Given the description of an element on the screen output the (x, y) to click on. 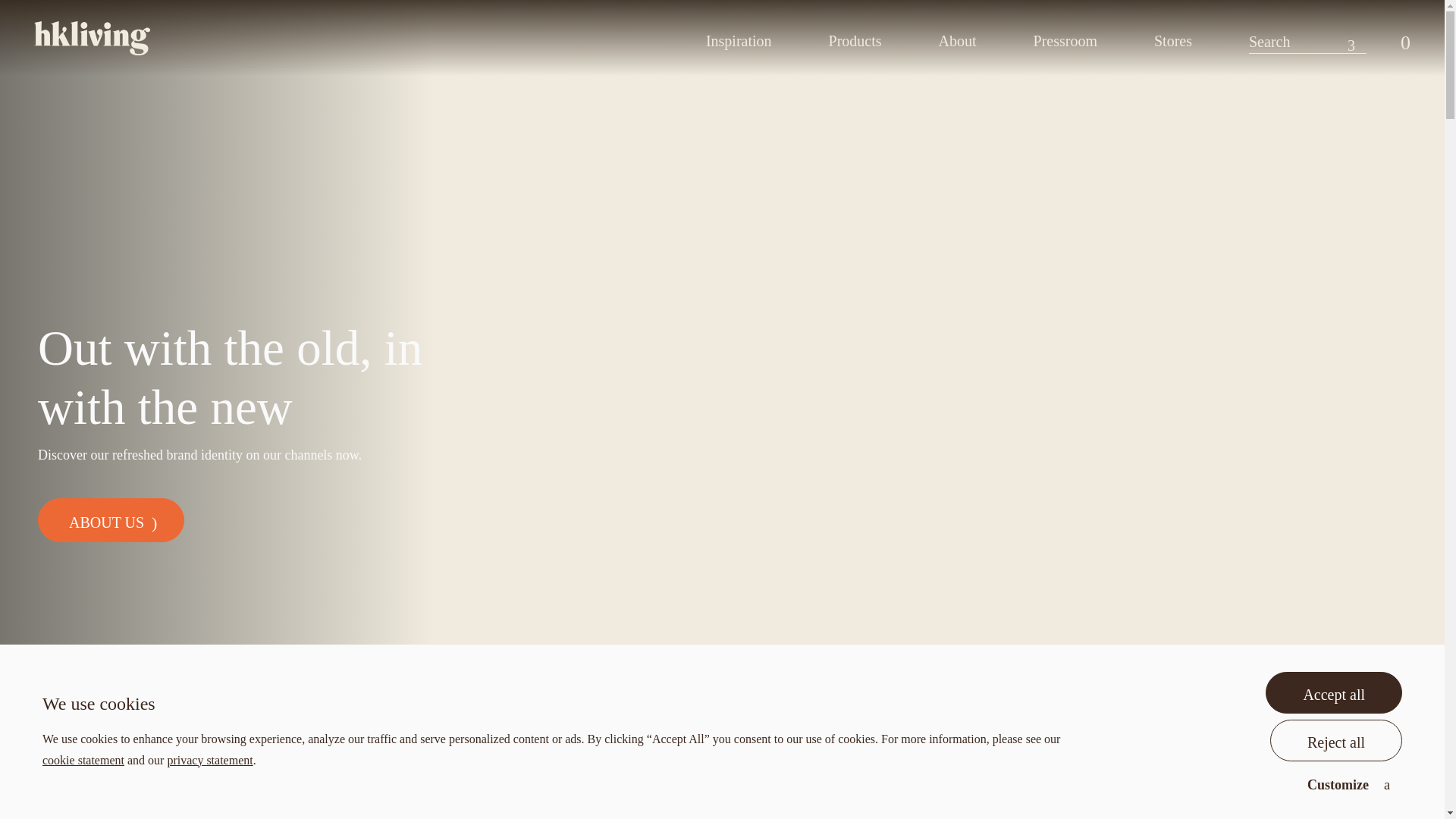
Pressroom (1065, 39)
Stores (1173, 39)
